Given the description of an element on the screen output the (x, y) to click on. 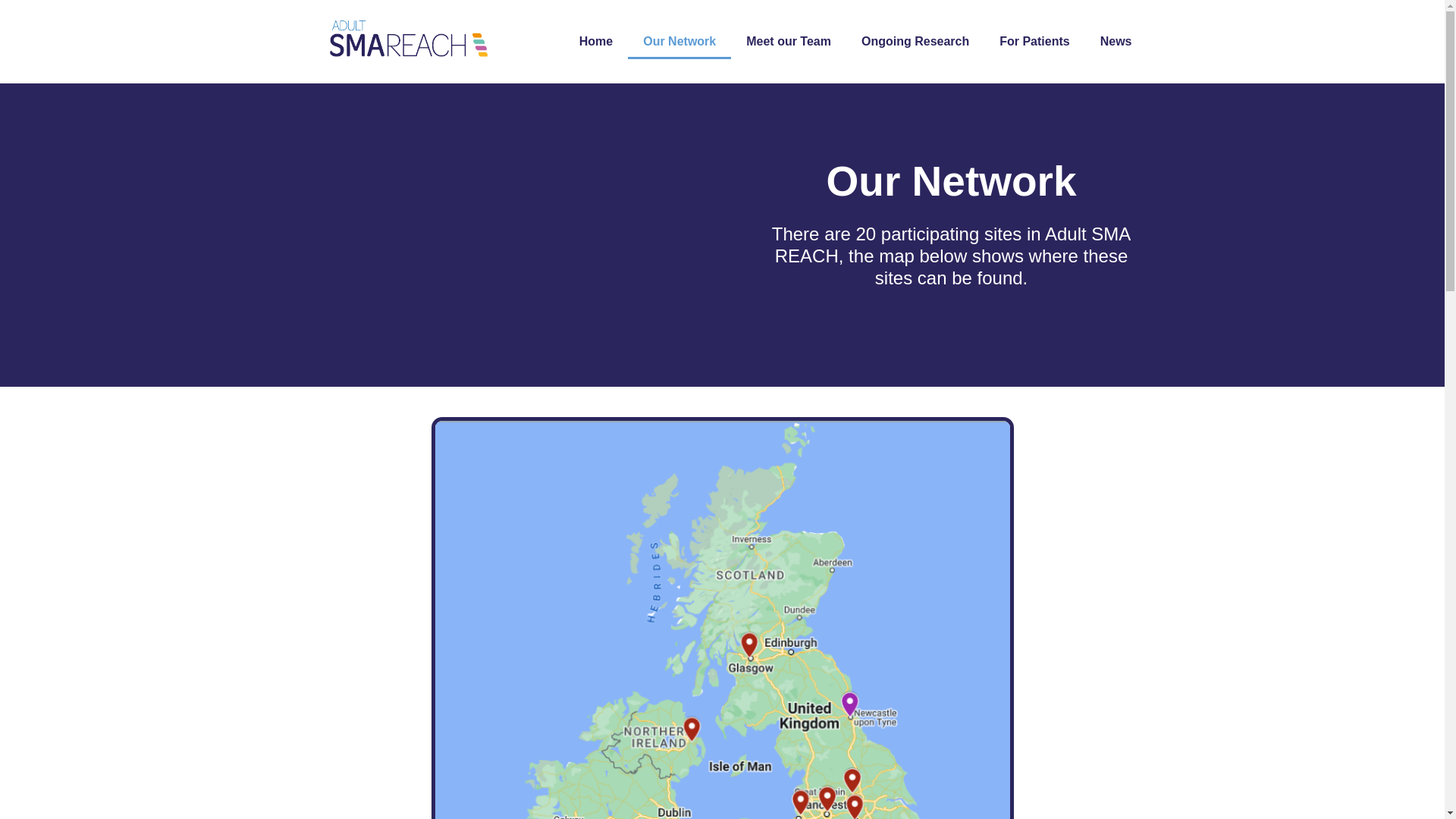
Ongoing Research (914, 41)
Home (595, 41)
News (1115, 41)
Our Network (678, 41)
For Patients (1034, 41)
Meet our Team (787, 41)
